Given the description of an element on the screen output the (x, y) to click on. 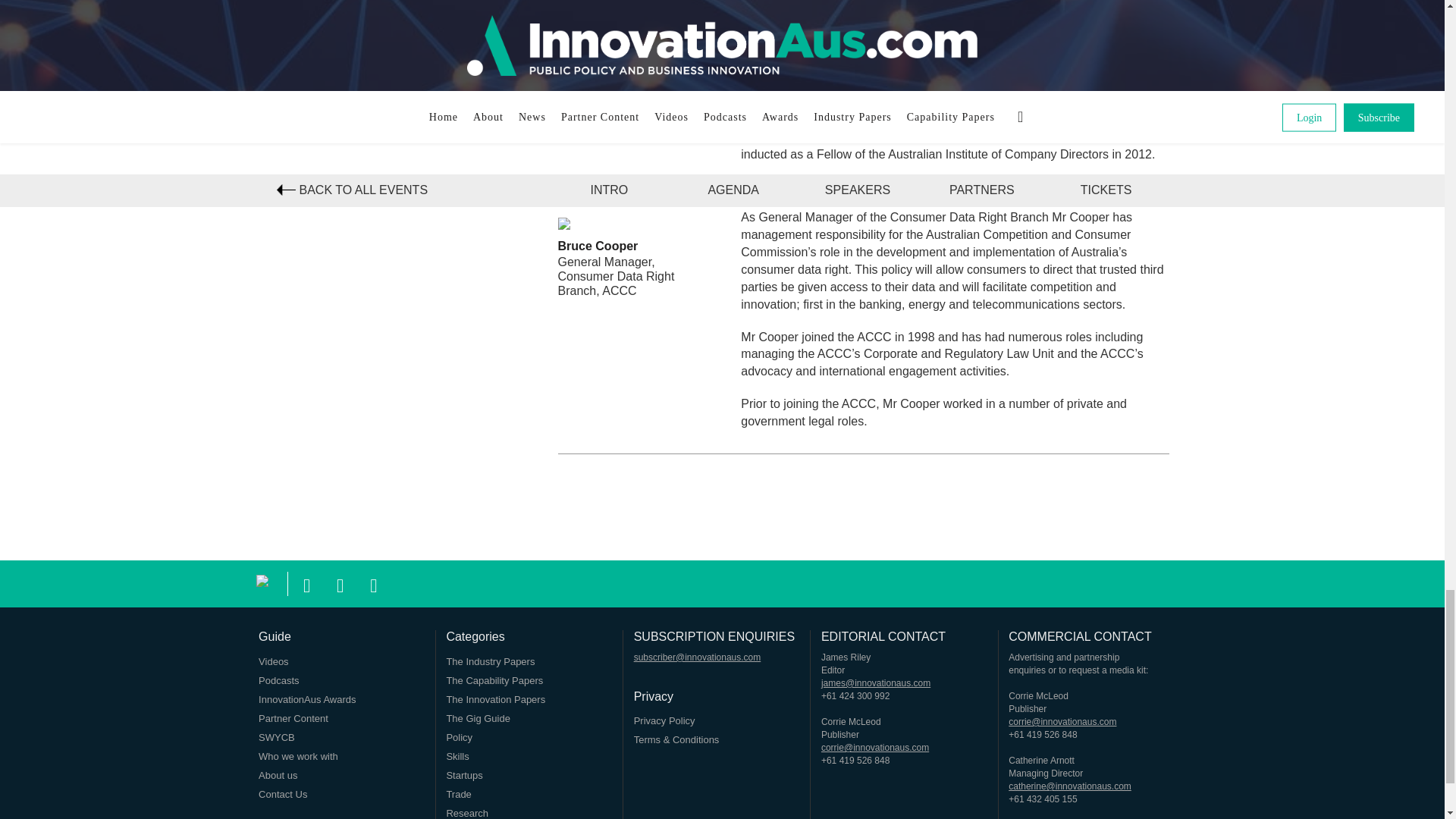
ion-social-twitter (340, 582)
ion-social-facebook (306, 582)
Videos (273, 661)
Podcasts (278, 680)
ion-social-linkedin (373, 582)
